Given the description of an element on the screen output the (x, y) to click on. 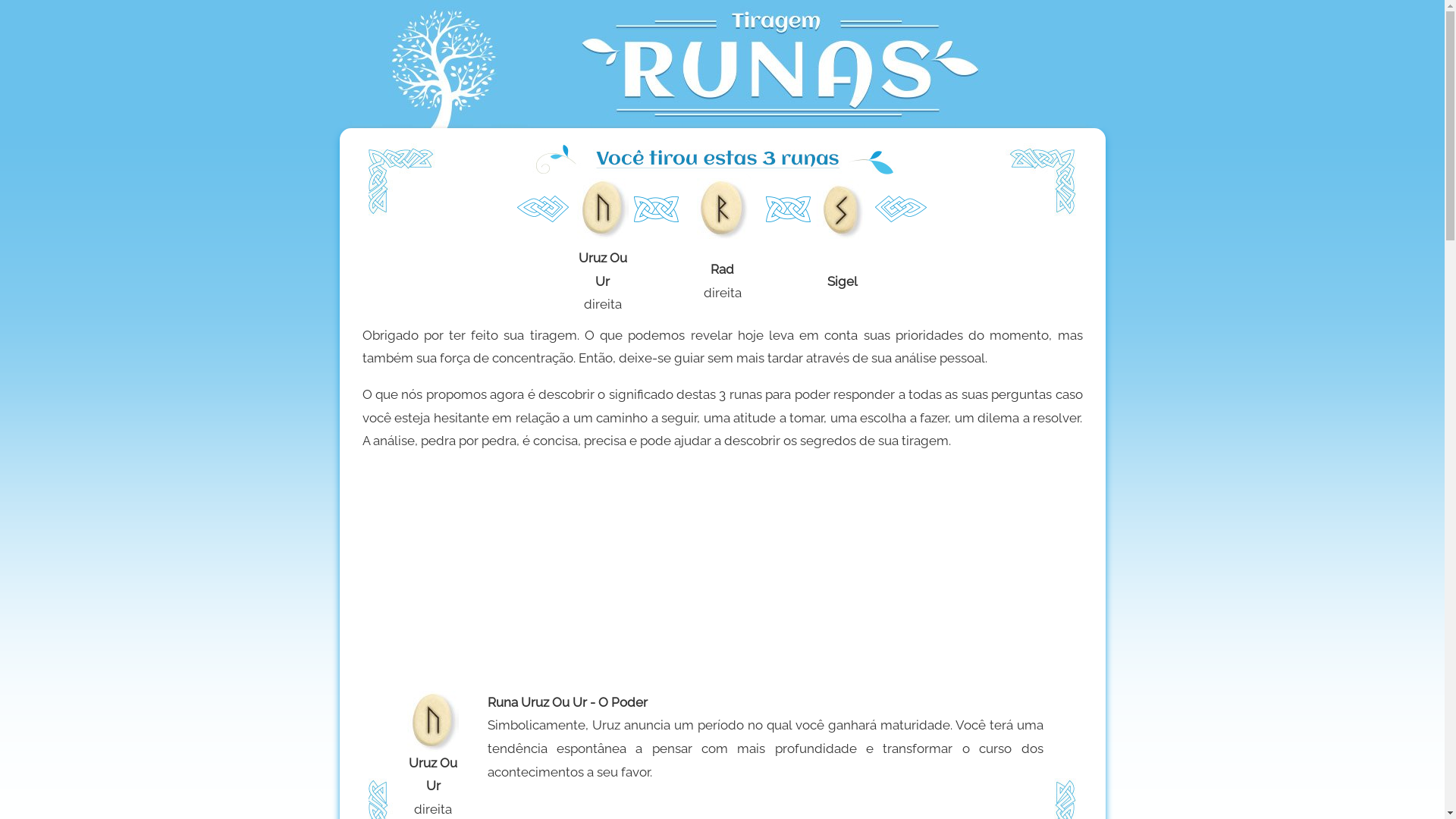
Advertisement Element type: hover (722, 568)
